Given the description of an element on the screen output the (x, y) to click on. 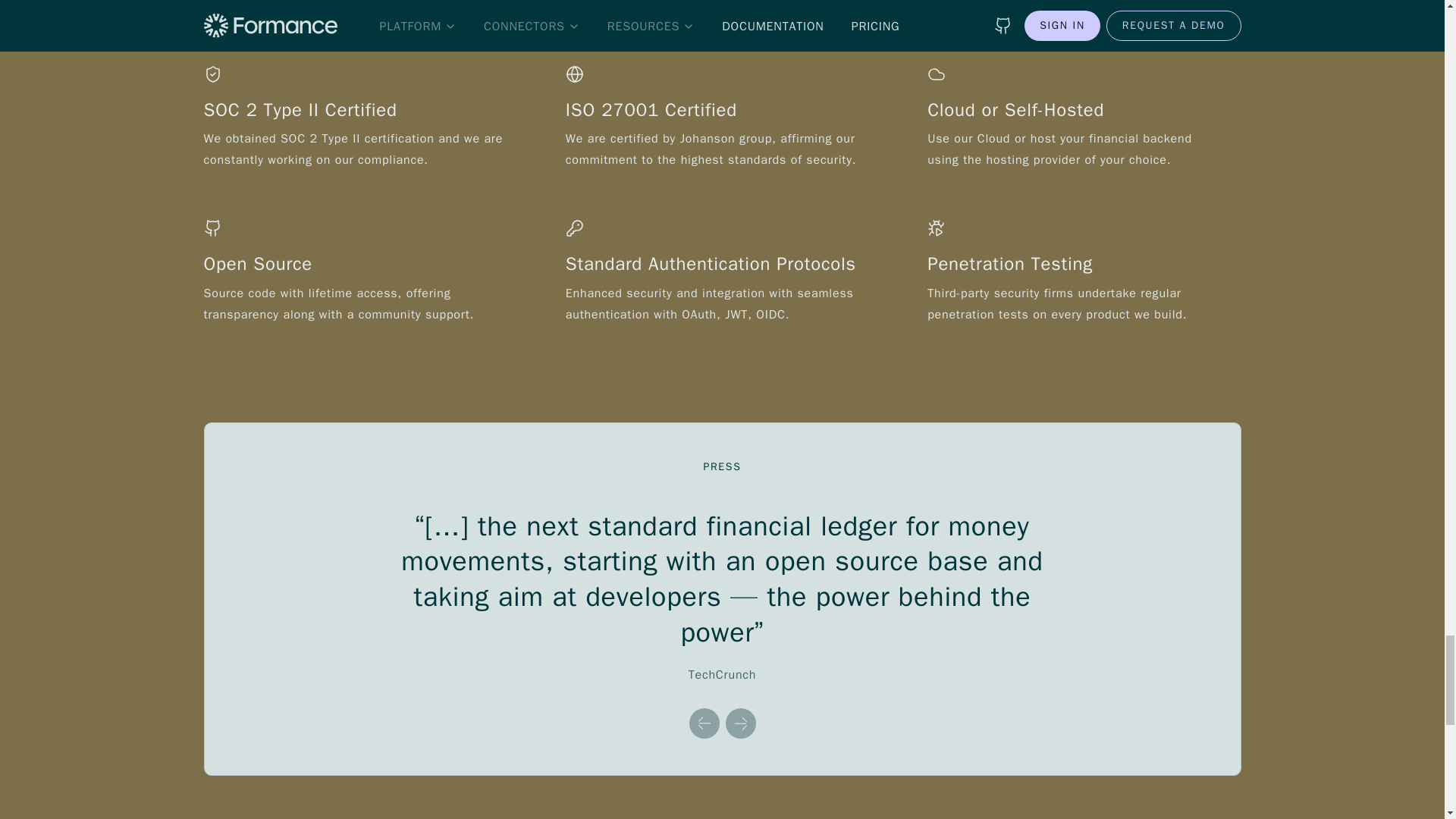
PREVIOUS SLIDE (703, 723)
NEXT SLIDE (740, 723)
